Given the description of an element on the screen output the (x, y) to click on. 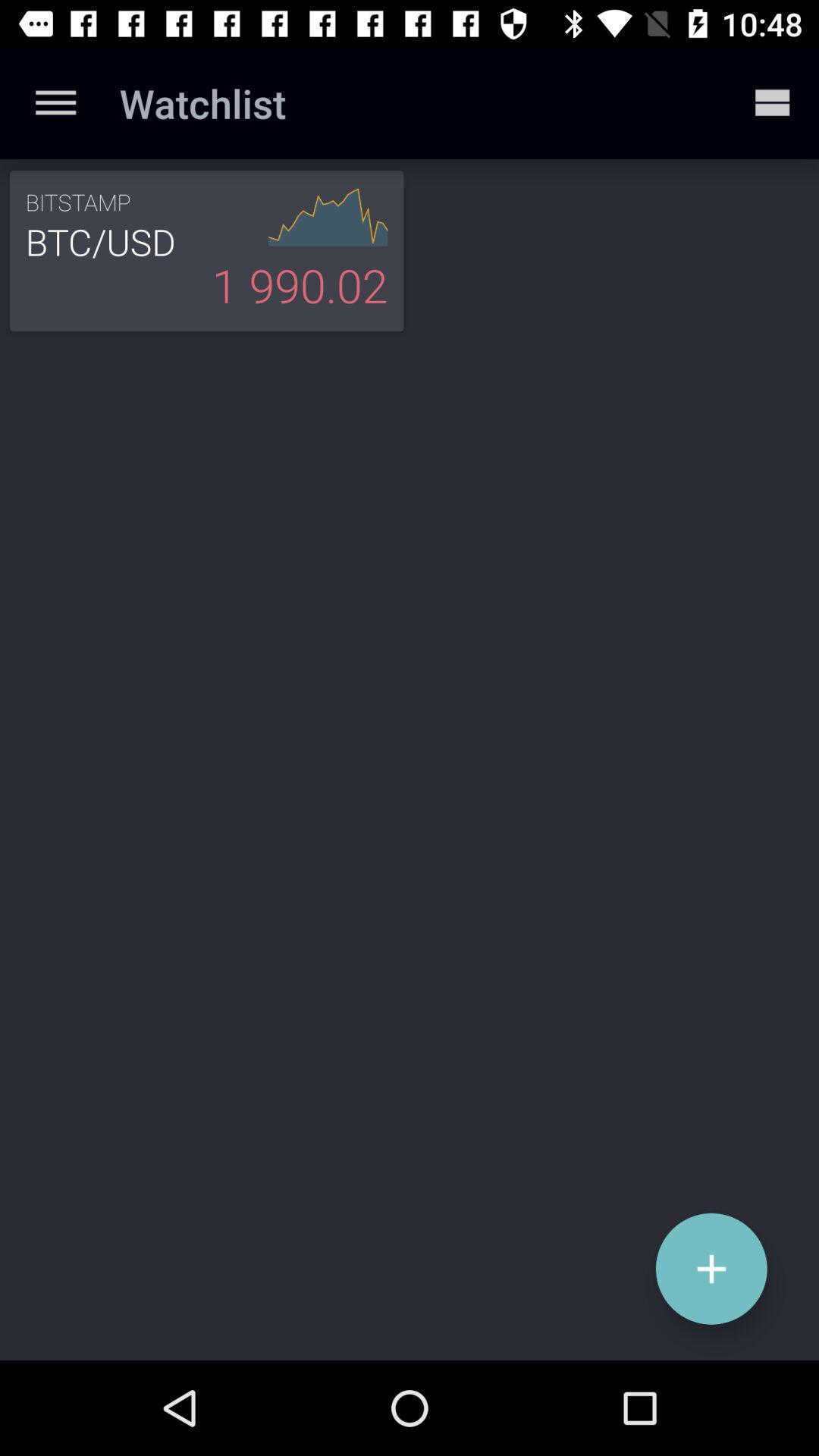
press item next to the watchlist (771, 103)
